Given the description of an element on the screen output the (x, y) to click on. 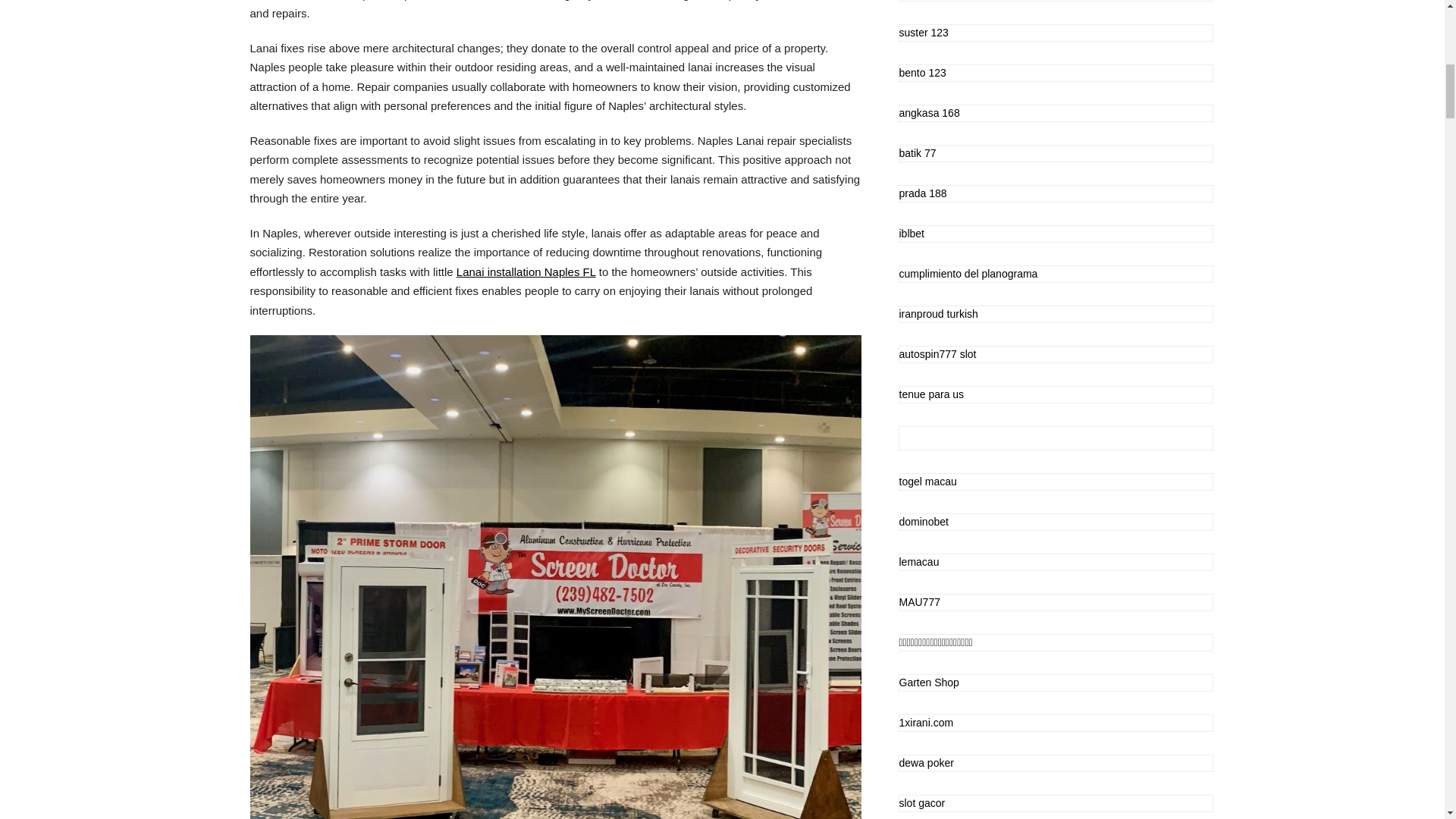
Lanai installation Naples FL (526, 271)
